Given the description of an element on the screen output the (x, y) to click on. 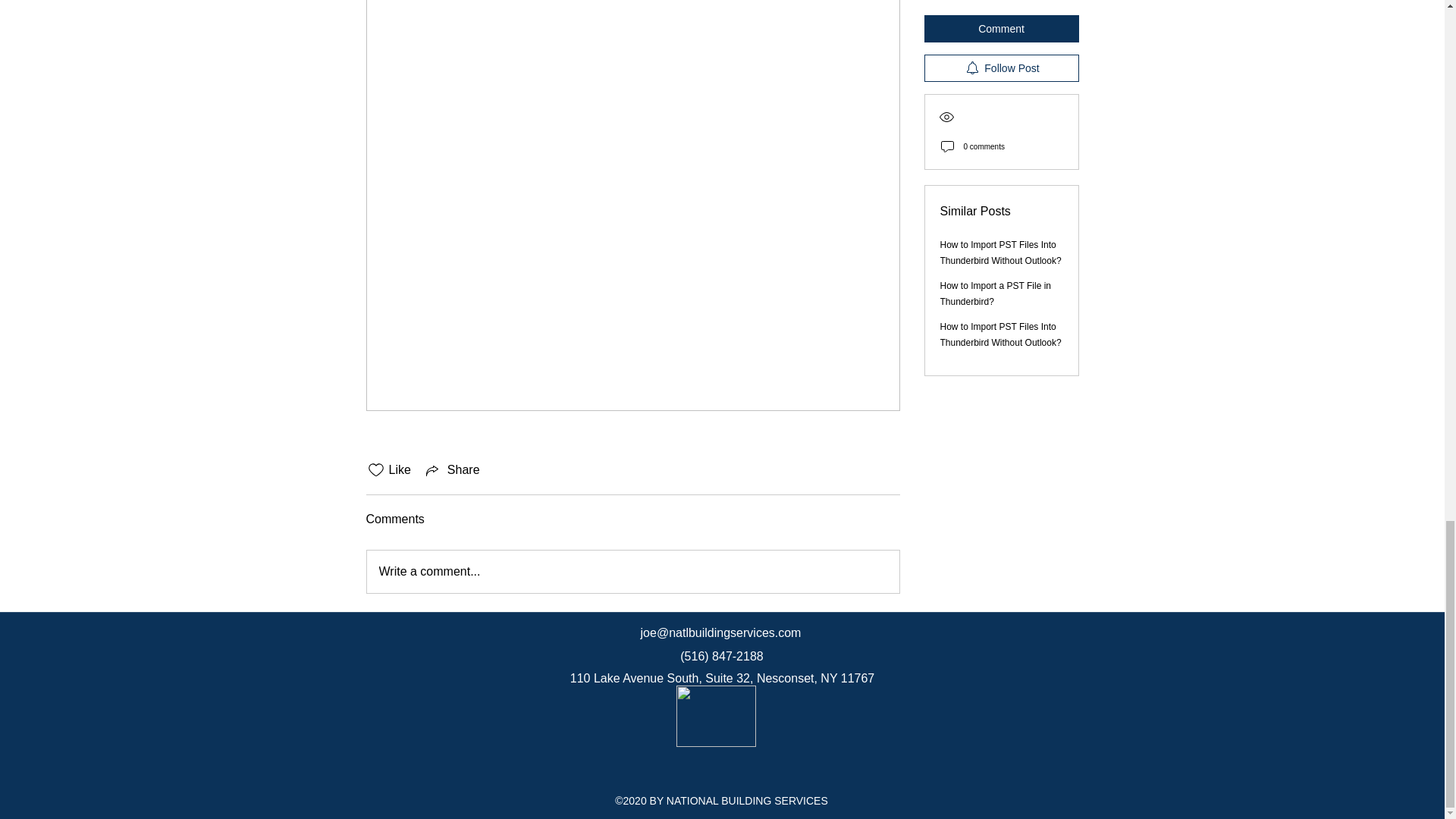
Share (451, 470)
long-island-office-cleaning.png (716, 715)
Write a comment... (632, 571)
